Given the description of an element on the screen output the (x, y) to click on. 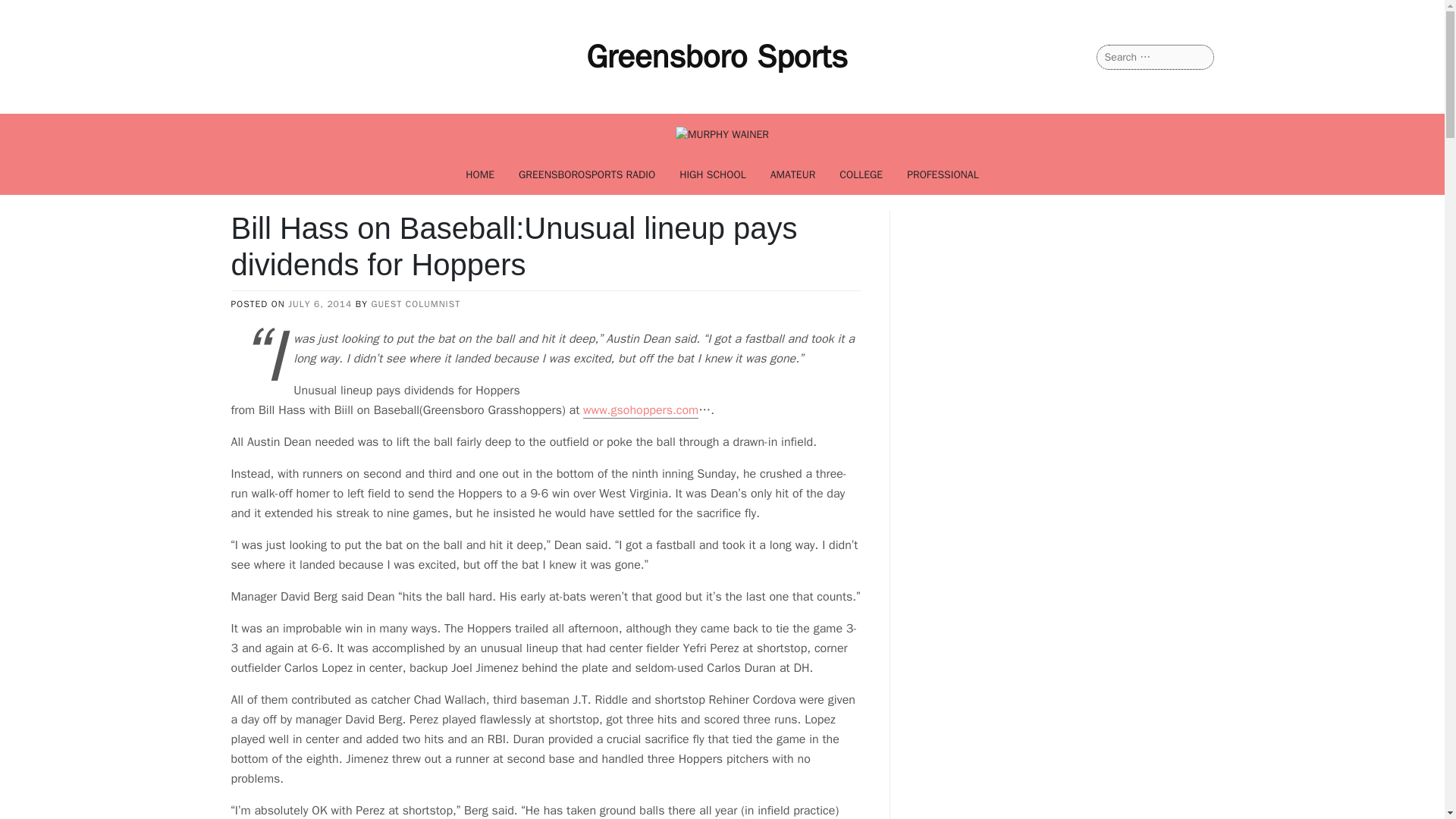
HIGH SCHOOL (712, 174)
JULY 6, 2014 (320, 304)
PROFESSIONAL (943, 174)
GUEST COLUMNIST (416, 304)
www.gsohoppers.com (640, 410)
HOME (479, 174)
AMATEUR (793, 174)
Greensboro Sports (716, 56)
COLLEGE (861, 174)
Search (31, 12)
GREENSBOROSPORTS RADIO (586, 174)
